Given the description of an element on the screen output the (x, y) to click on. 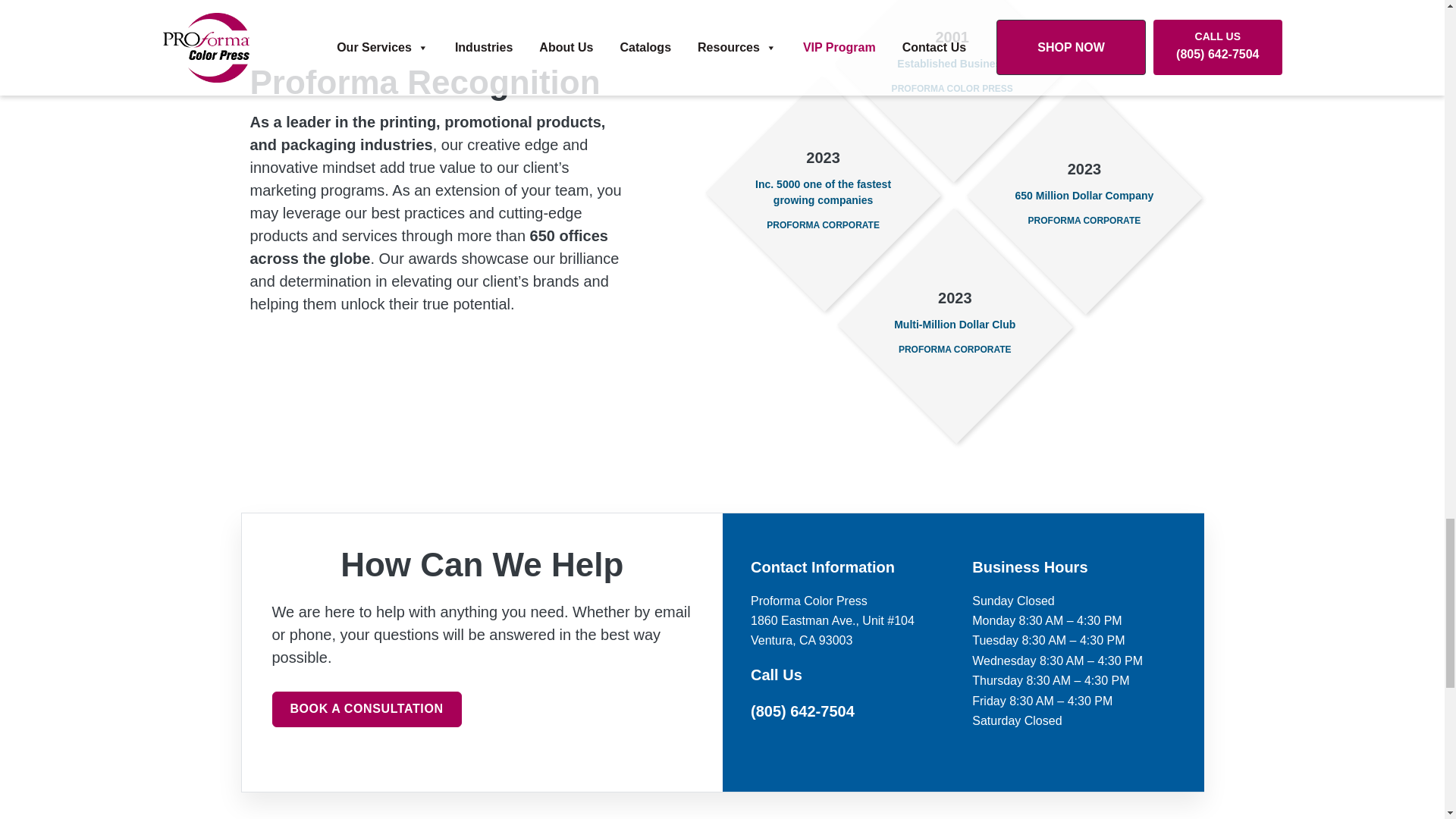
BOOK A CONSULTATION (365, 709)
